Given the description of an element on the screen output the (x, y) to click on. 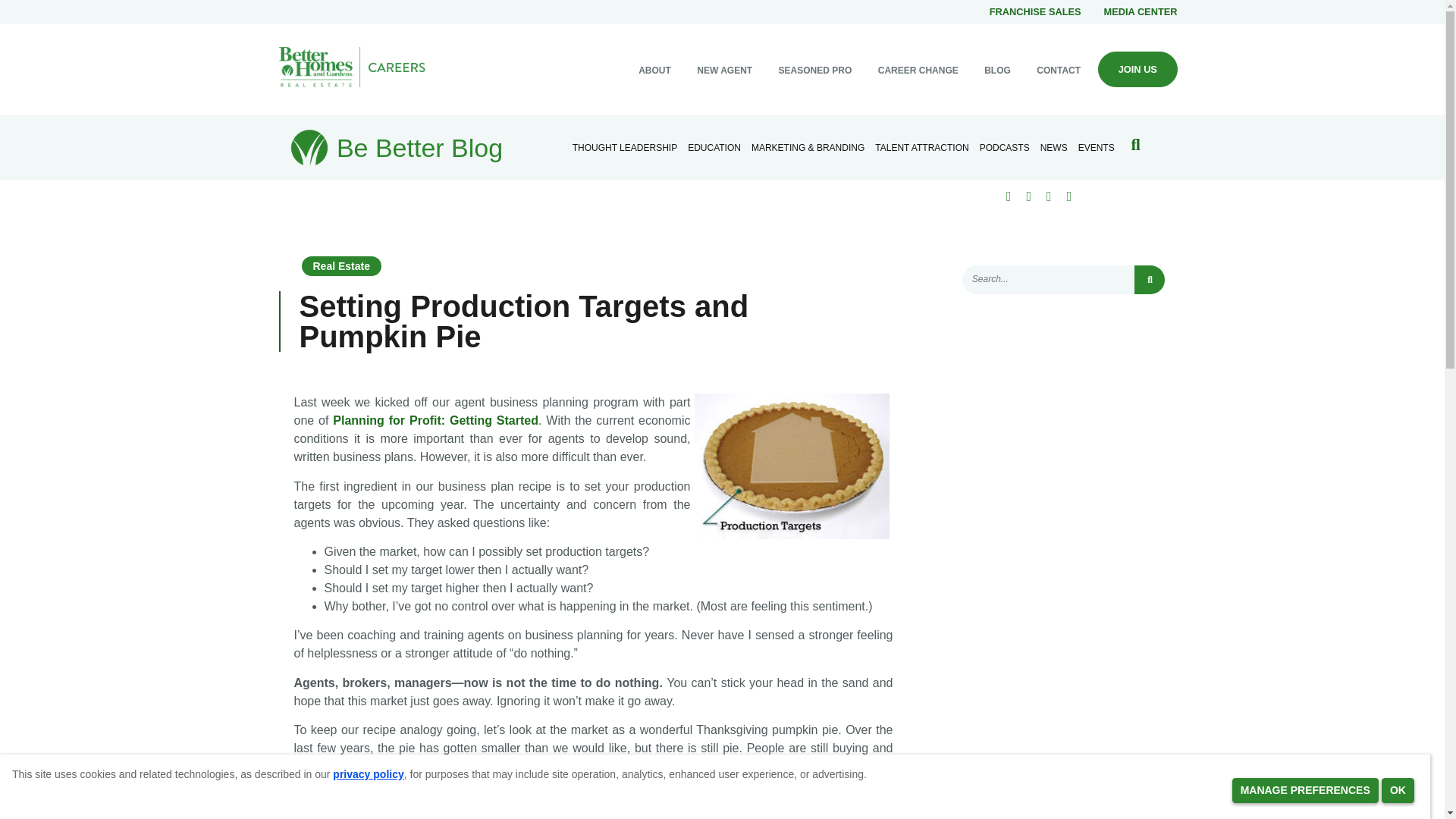
NEW AGENT (724, 70)
Real Estate (341, 265)
BLOG (997, 70)
NEWS (1054, 147)
THOUGHT LEADERSHIP (624, 147)
CONTACT (1058, 70)
EVENTS (1096, 147)
CAREER CHANGE (917, 70)
MEDIA CENTER (1140, 11)
Planning for Profit: Getting Started (435, 420)
